Given the description of an element on the screen output the (x, y) to click on. 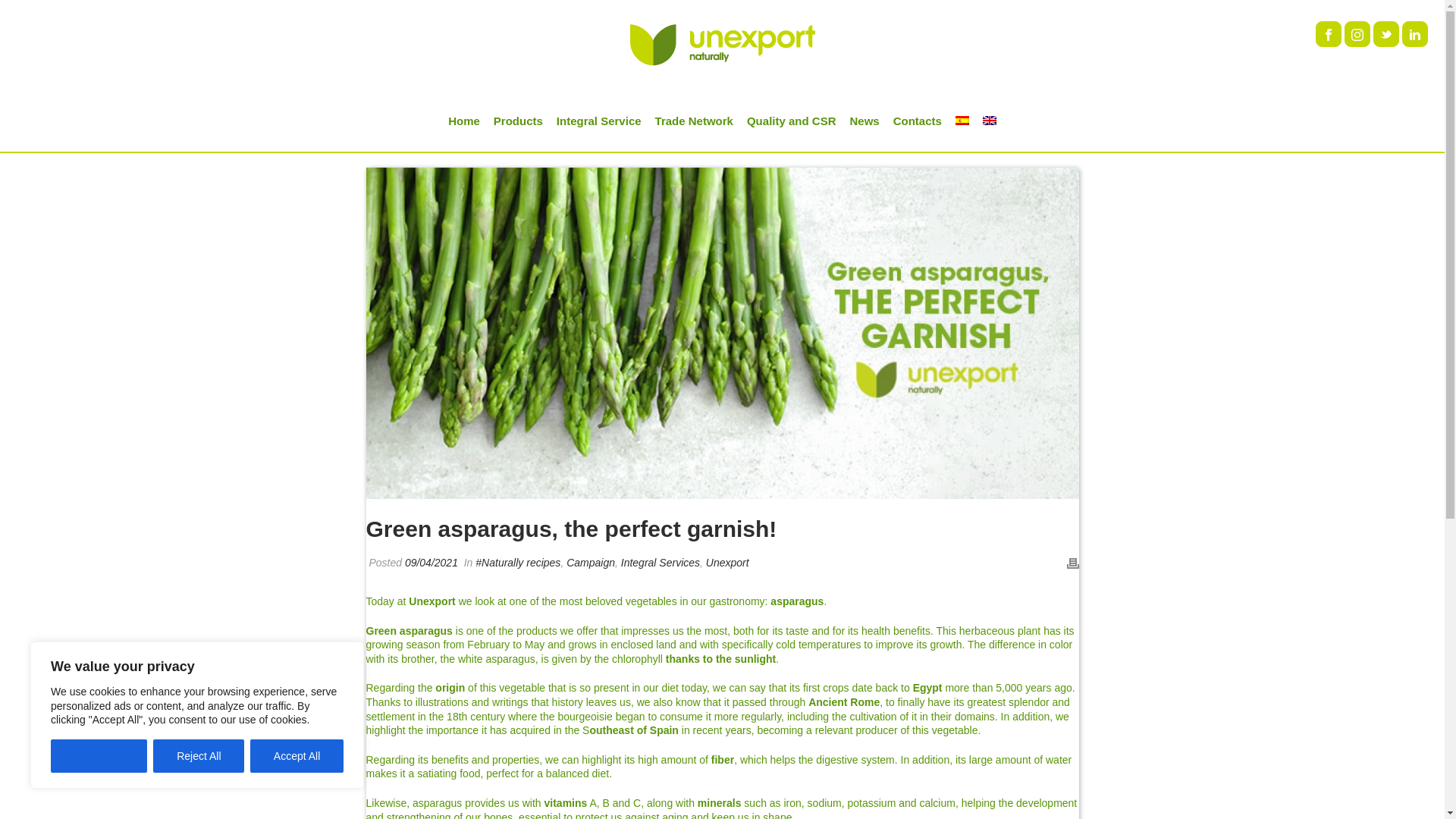
Home (463, 121)
News (863, 121)
Products (517, 121)
Home (463, 121)
Customize (98, 756)
Integral Service (598, 121)
Quality and CSR (791, 121)
Accept All (296, 756)
Products (517, 121)
Trade Network (693, 121)
Integral Service (598, 121)
Reject All (198, 756)
Trade Network (693, 121)
Contacts (917, 121)
